Given the description of an element on the screen output the (x, y) to click on. 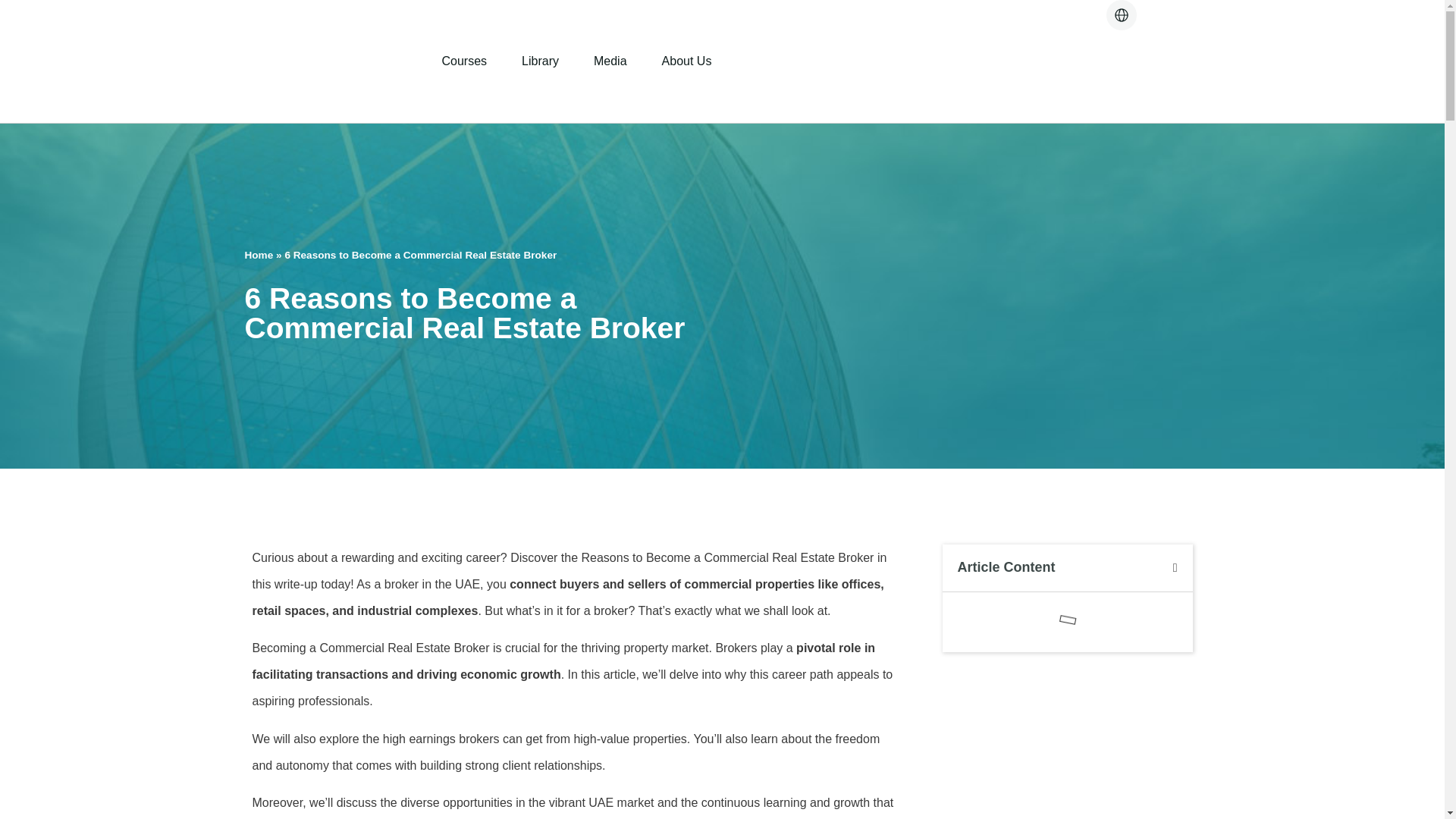
About Us (686, 61)
Courses (464, 61)
Home (258, 255)
Media (610, 61)
Library (539, 61)
